Given the description of an element on the screen output the (x, y) to click on. 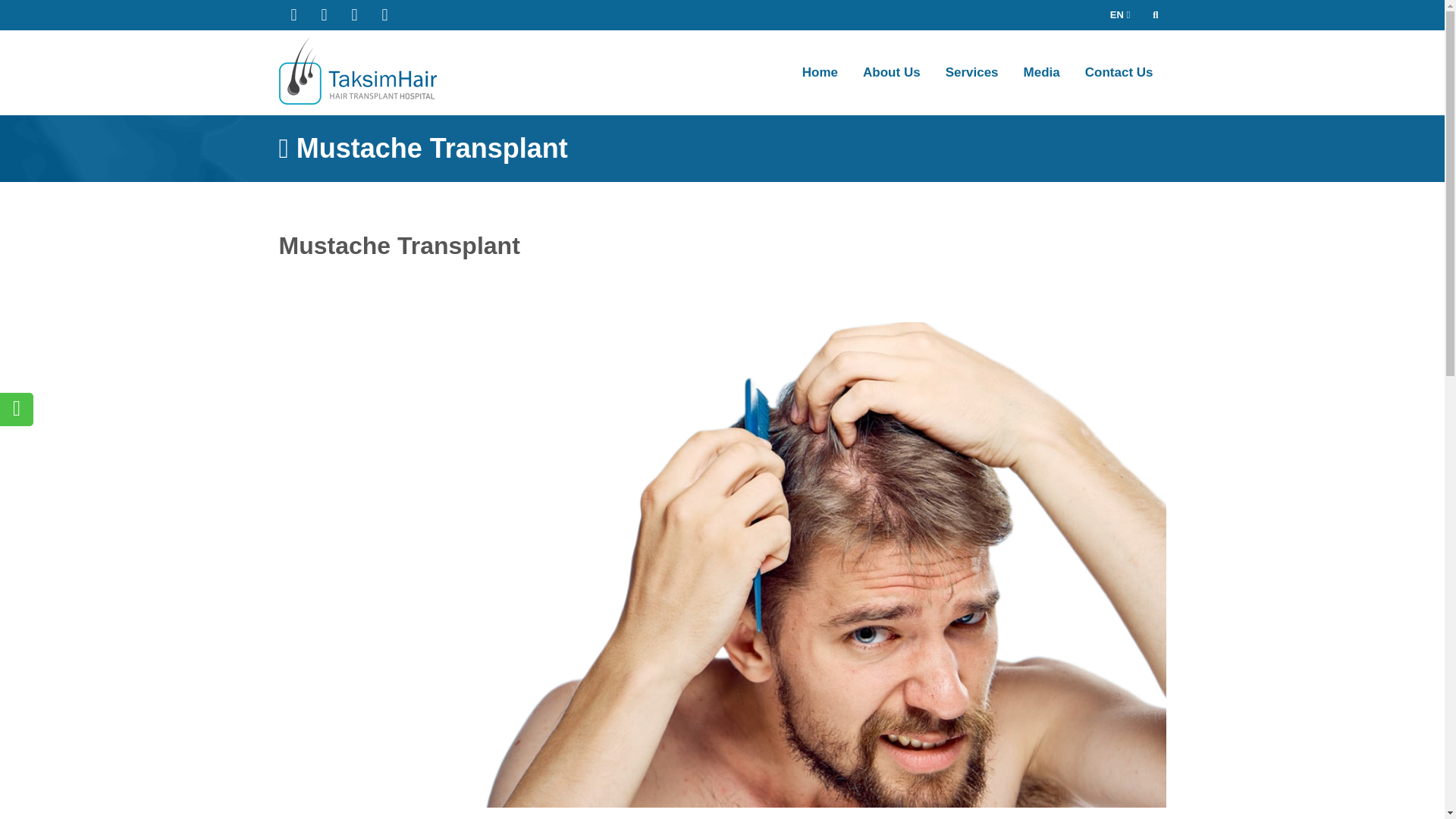
About Us (891, 72)
Services (971, 72)
Contact Us (1119, 72)
EN (1118, 15)
